Given the description of an element on the screen output the (x, y) to click on. 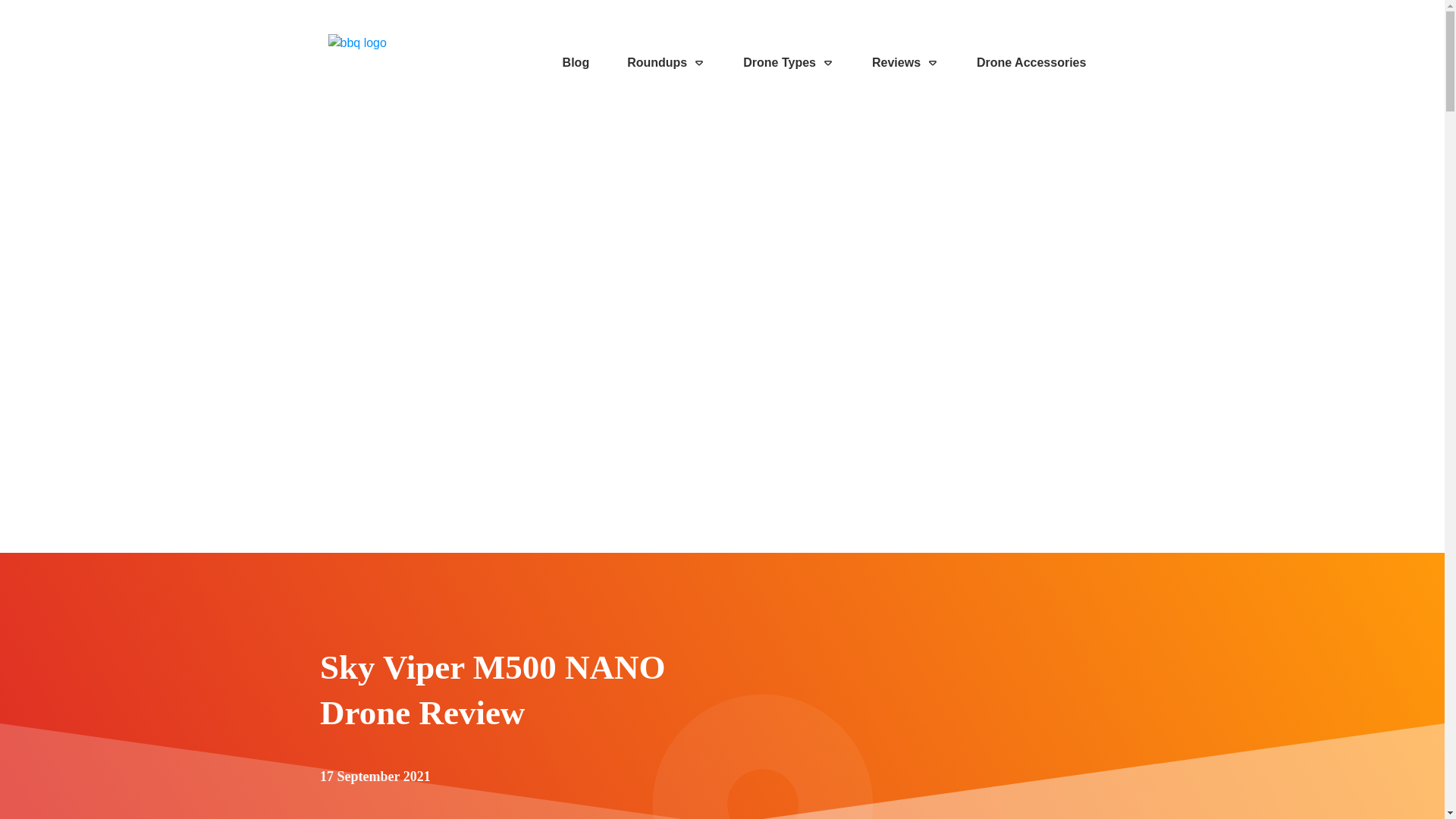
Drone Types (788, 62)
Blog (575, 62)
Roundups (665, 62)
Sky Viper M500 NANO Drone Review (492, 689)
Reviews (905, 62)
